Given the description of an element on the screen output the (x, y) to click on. 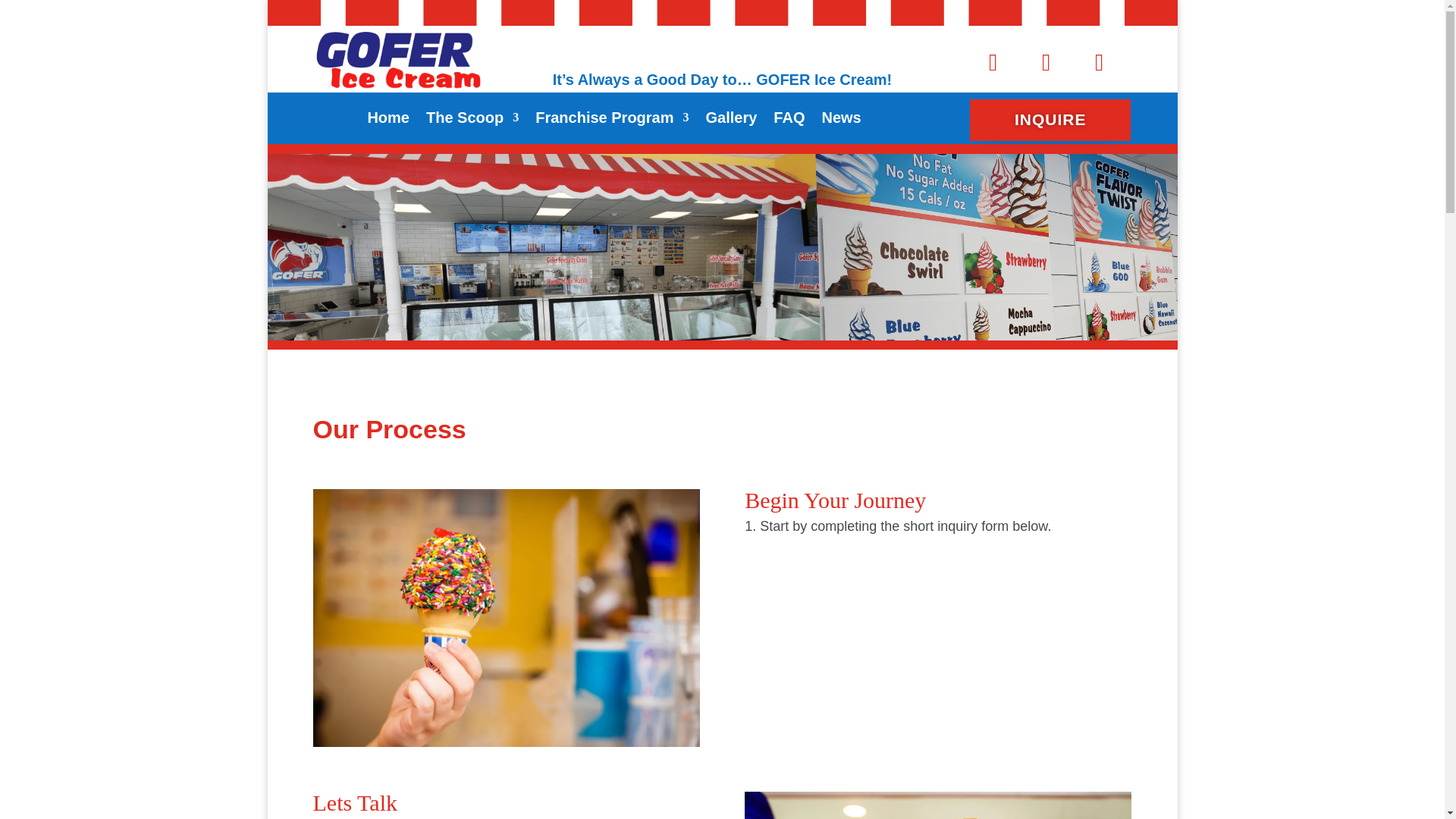
logo2red (398, 58)
The Scoop (472, 120)
Franchise Program (611, 120)
Follow on Instagram (1098, 62)
Gallery (731, 120)
Follow on X (1046, 62)
Home (387, 120)
FAQ (789, 120)
News (840, 120)
Follow on Facebook (992, 62)
